Given the description of an element on the screen output the (x, y) to click on. 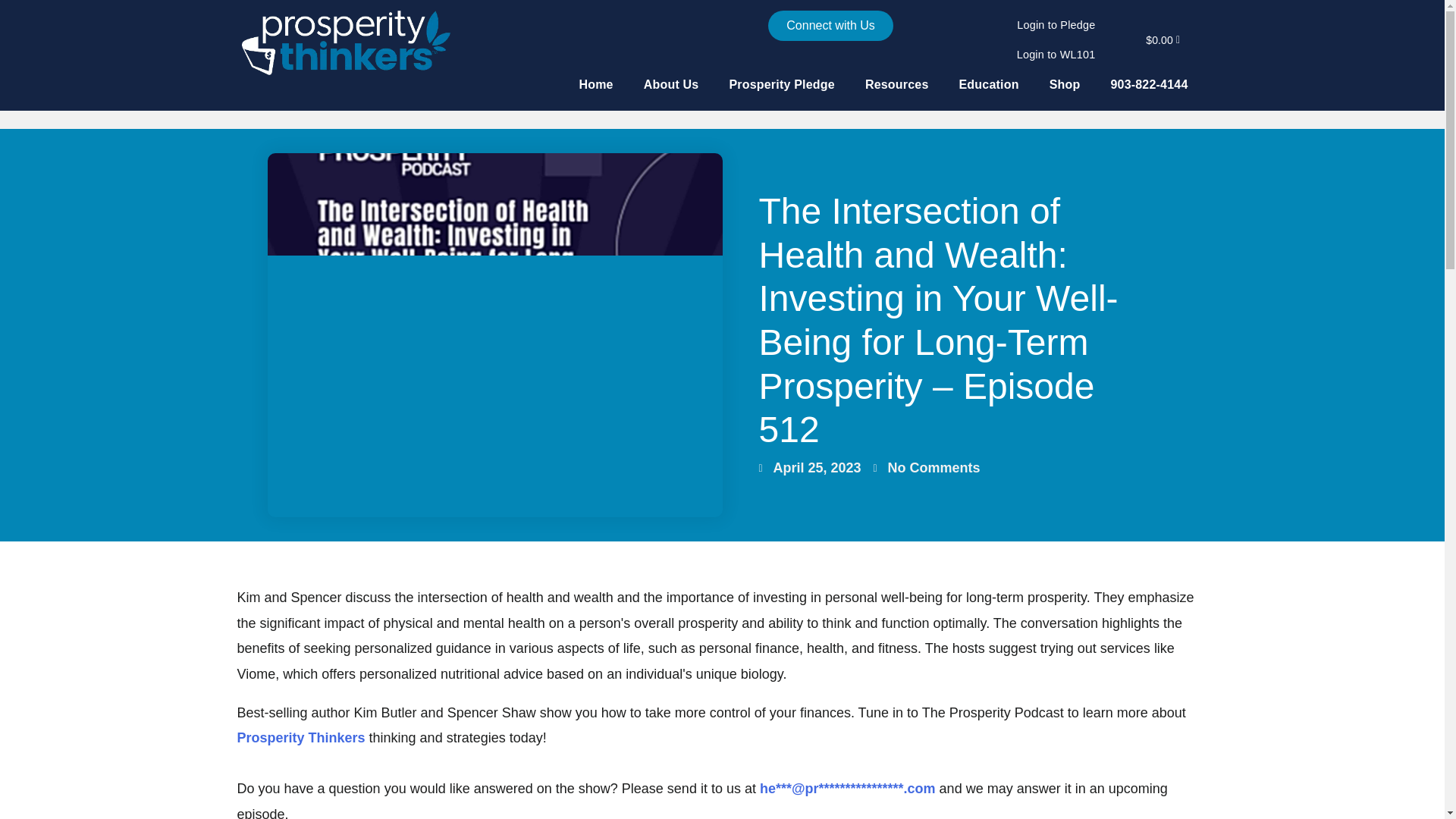
903-822-4144 (1148, 84)
Home (595, 84)
Shop (1064, 84)
Prosperity Pledge (780, 84)
Login to Pledge (1055, 25)
Connect with Us (830, 25)
Resources (896, 84)
About Us (671, 84)
Login to WL101 (1055, 54)
